Given the description of an element on the screen output the (x, y) to click on. 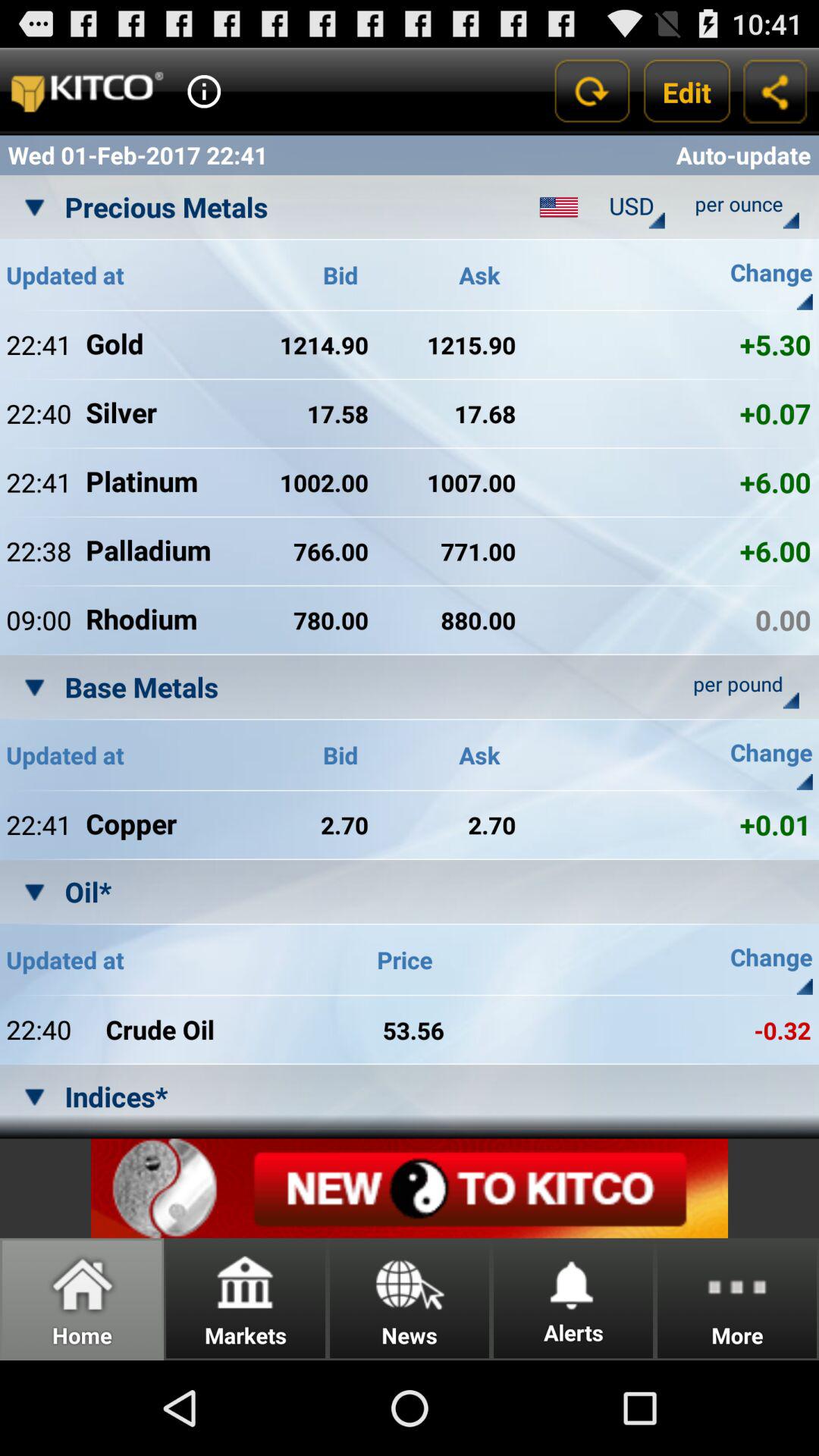
choose edit item (686, 91)
